Given the description of an element on the screen output the (x, y) to click on. 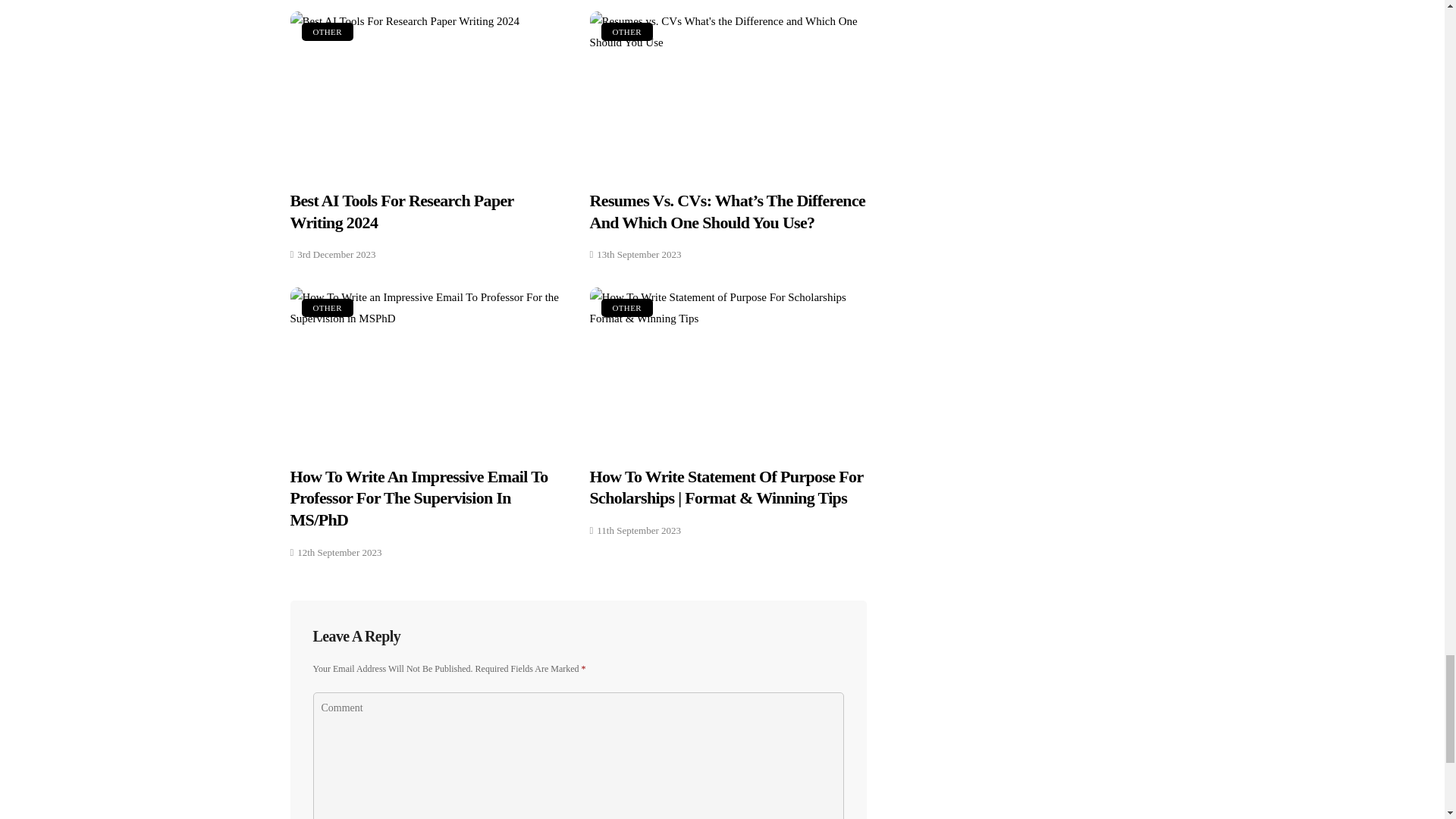
Best AI Tools For Research Paper Writing 2024 (401, 210)
OTHER (626, 31)
OTHER (327, 31)
Best AI Tools For Research Paper Writing 2024 (427, 91)
